Given the description of an element on the screen output the (x, y) to click on. 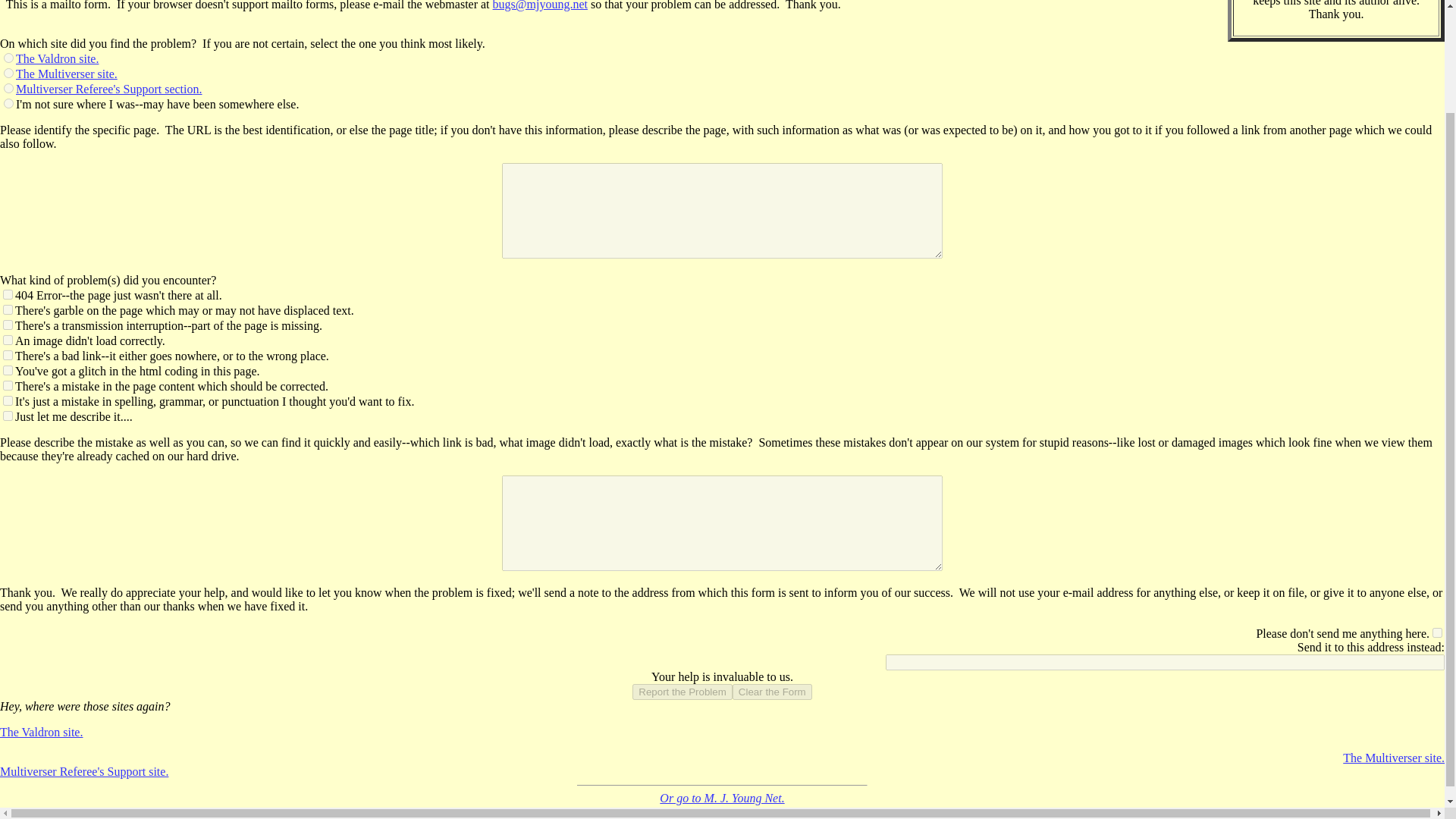
on (7, 309)
Other (8, 103)
Referee (8, 88)
on (7, 339)
on (7, 355)
The Multiverser site. (66, 73)
on (7, 370)
Multiverser Referee's Support site. (84, 771)
on (7, 294)
on (7, 415)
Clear the Form (772, 691)
Valdron (8, 58)
on (1437, 633)
Report the Problem (681, 691)
on (7, 325)
